Given the description of an element on the screen output the (x, y) to click on. 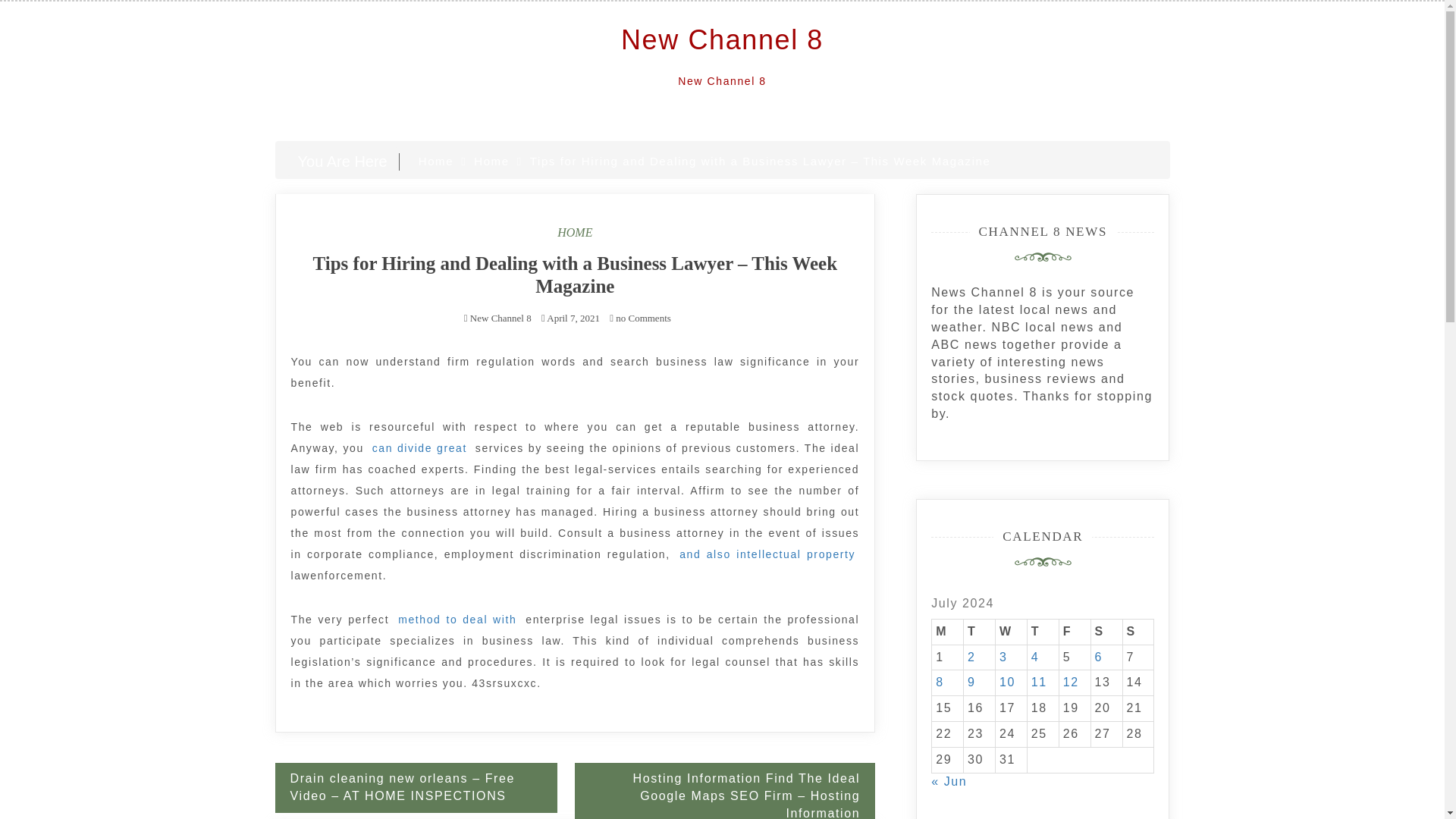
Home (435, 160)
method to deal with (459, 619)
HOME (574, 232)
Monday (947, 631)
10 (1006, 681)
Friday (1074, 631)
Sunday (1138, 631)
11 (1038, 681)
New Channel 8 (500, 317)
Home (491, 160)
New Channel 8 (722, 39)
can divide great (422, 447)
Thursday (1042, 631)
Tuesday (979, 631)
12 (1070, 681)
